Given the description of an element on the screen output the (x, y) to click on. 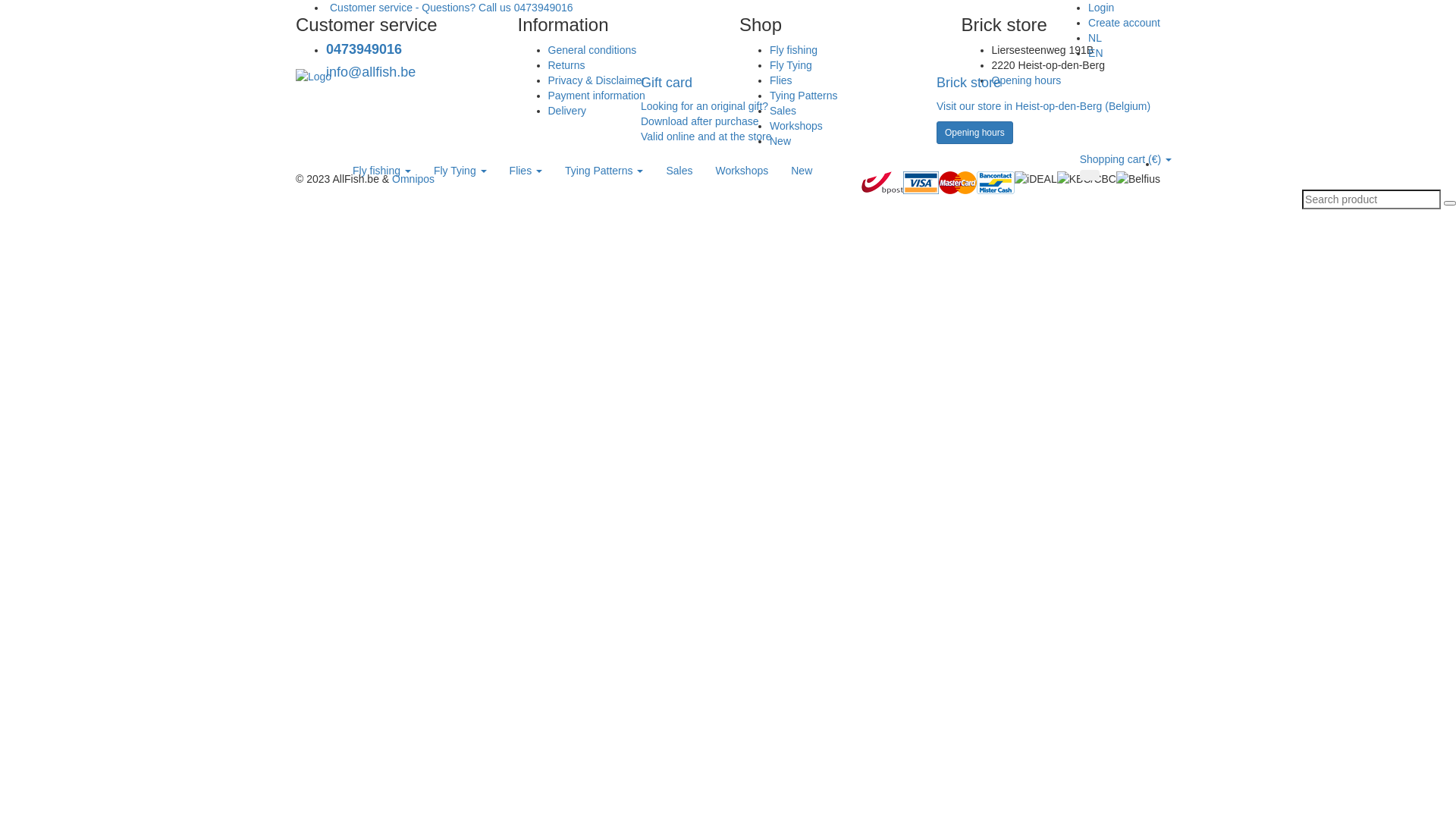
Delivery Element type: text (566, 110)
  Element type: text (1158, 163)
Opening hours Element type: text (1026, 80)
New Element type: text (801, 170)
KBC/CBC Element type: hover (1086, 178)
Workshops Element type: text (795, 125)
General conditions Element type: text (591, 49)
Verzending via bpost Element type: hover (882, 182)
Mastercard Element type: hover (957, 182)
Workshops Element type: text (741, 170)
Fly Tying Element type: text (460, 170)
Fly Tying Element type: text (790, 65)
Tying Patterns Element type: text (603, 170)
iDEAL Element type: hover (1035, 178)
Flies Element type: text (525, 170)
Customer service - Questions? Call us 0473949016 Element type: text (449, 7)
New Element type: text (779, 140)
Opening hours Element type: text (974, 132)
Bancontact Element type: hover (995, 182)
Privacy & Disclaimer Element type: text (595, 80)
Visa Element type: hover (920, 182)
EN Element type: text (1095, 53)
Omnipos Element type: text (413, 178)
Fly fishing Element type: text (381, 170)
Flies Element type: text (780, 80)
info@allfish.be Element type: text (370, 71)
NL Element type: text (1094, 37)
0473949016 Element type: text (363, 48)
Payment information Element type: text (595, 95)
Sales Element type: text (782, 110)
Returns Element type: text (565, 65)
Brick store
Visit our store in Heist-op-den-Berg (Belgium) Element type: text (1048, 106)
Login Element type: text (1100, 7)
Tying Patterns Element type: text (803, 95)
Fly fishing Element type: text (793, 49)
Sales Element type: text (678, 170)
Belfius Element type: hover (1138, 178)
Create account Element type: text (1124, 22)
